Given the description of an element on the screen output the (x, y) to click on. 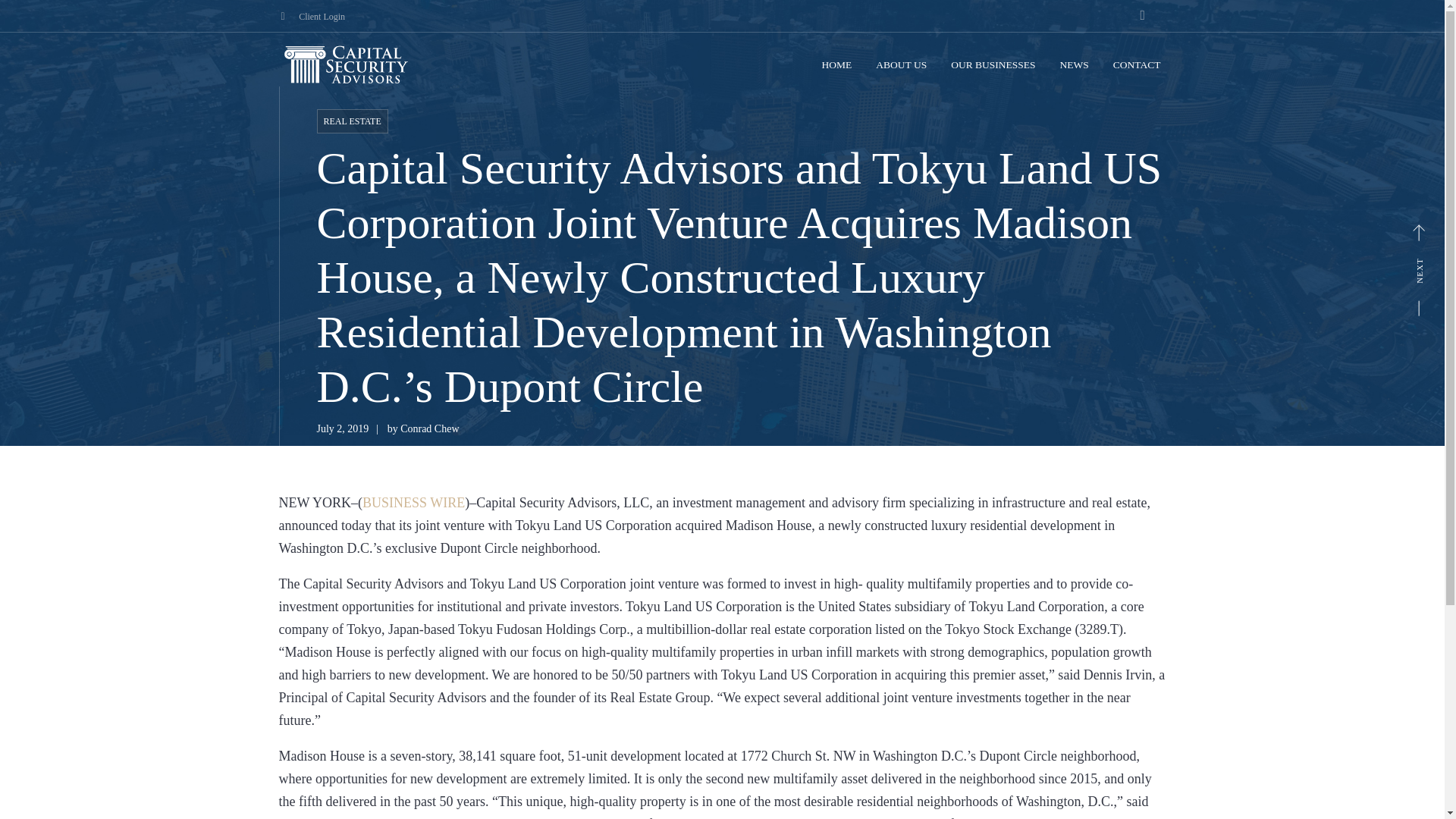
REAL ESTATE (352, 120)
BUSINESS WIRE (413, 502)
Conrad Chew (429, 428)
Client Login (321, 16)
OUR BUSINESSES (992, 64)
